Given the description of an element on the screen output the (x, y) to click on. 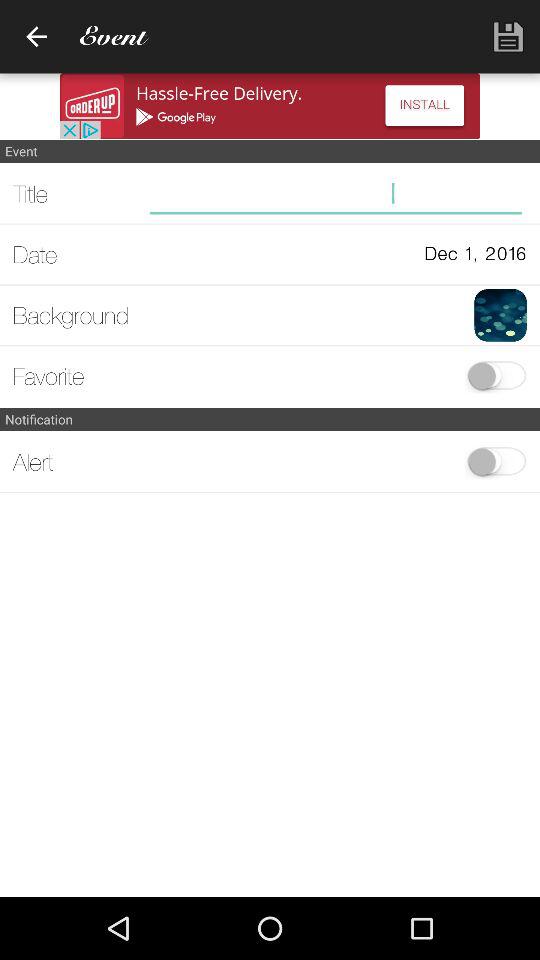
select date (78, 254)
